Given the description of an element on the screen output the (x, y) to click on. 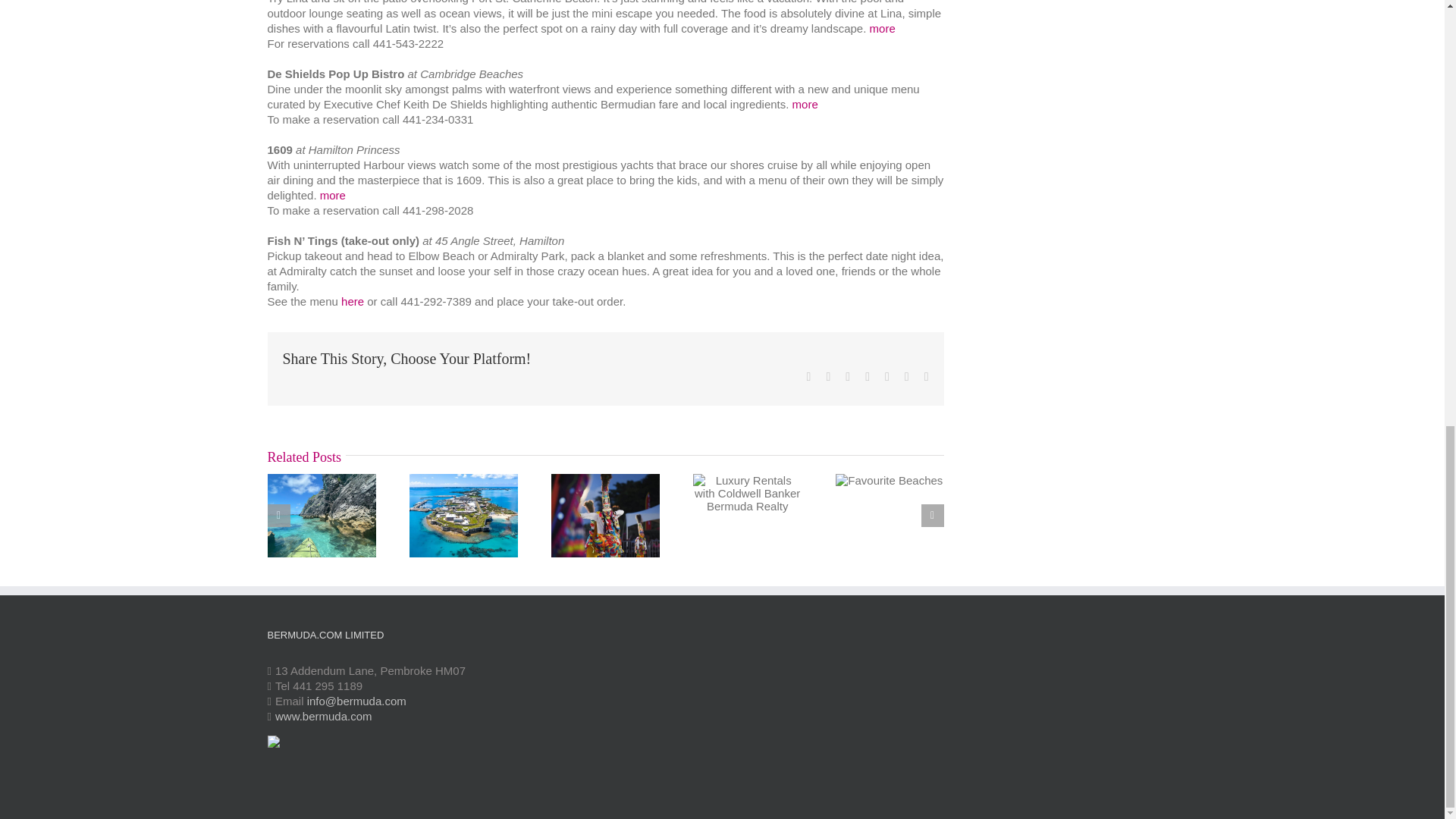
Pinterest (906, 377)
LinkedIn (866, 377)
Email (926, 377)
Facebook (808, 377)
Reddit (847, 377)
Twitter (827, 377)
Tumblr (887, 377)
